Given the description of an element on the screen output the (x, y) to click on. 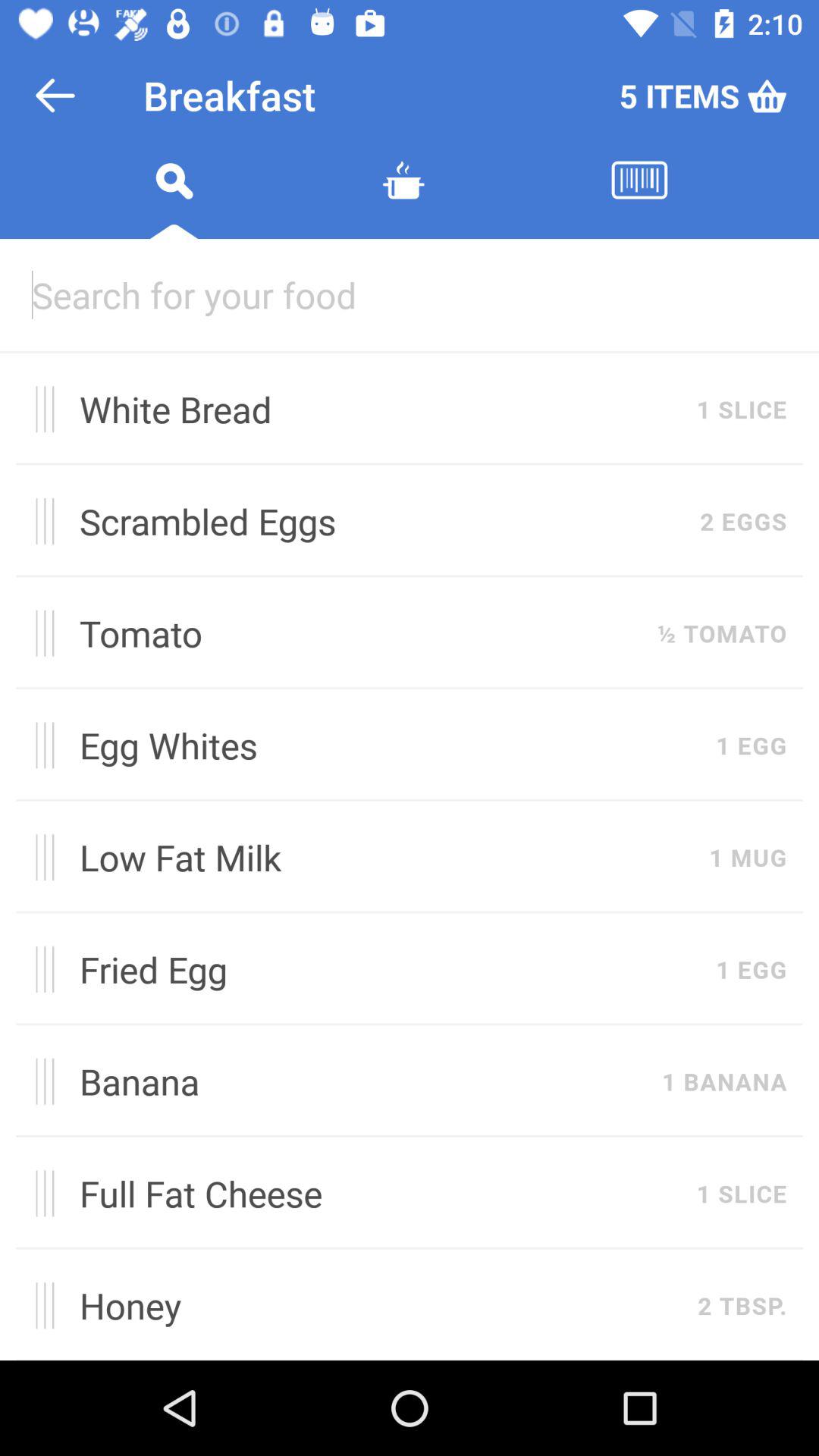
choose item next to scrambled eggs item (743, 521)
